Given the description of an element on the screen output the (x, y) to click on. 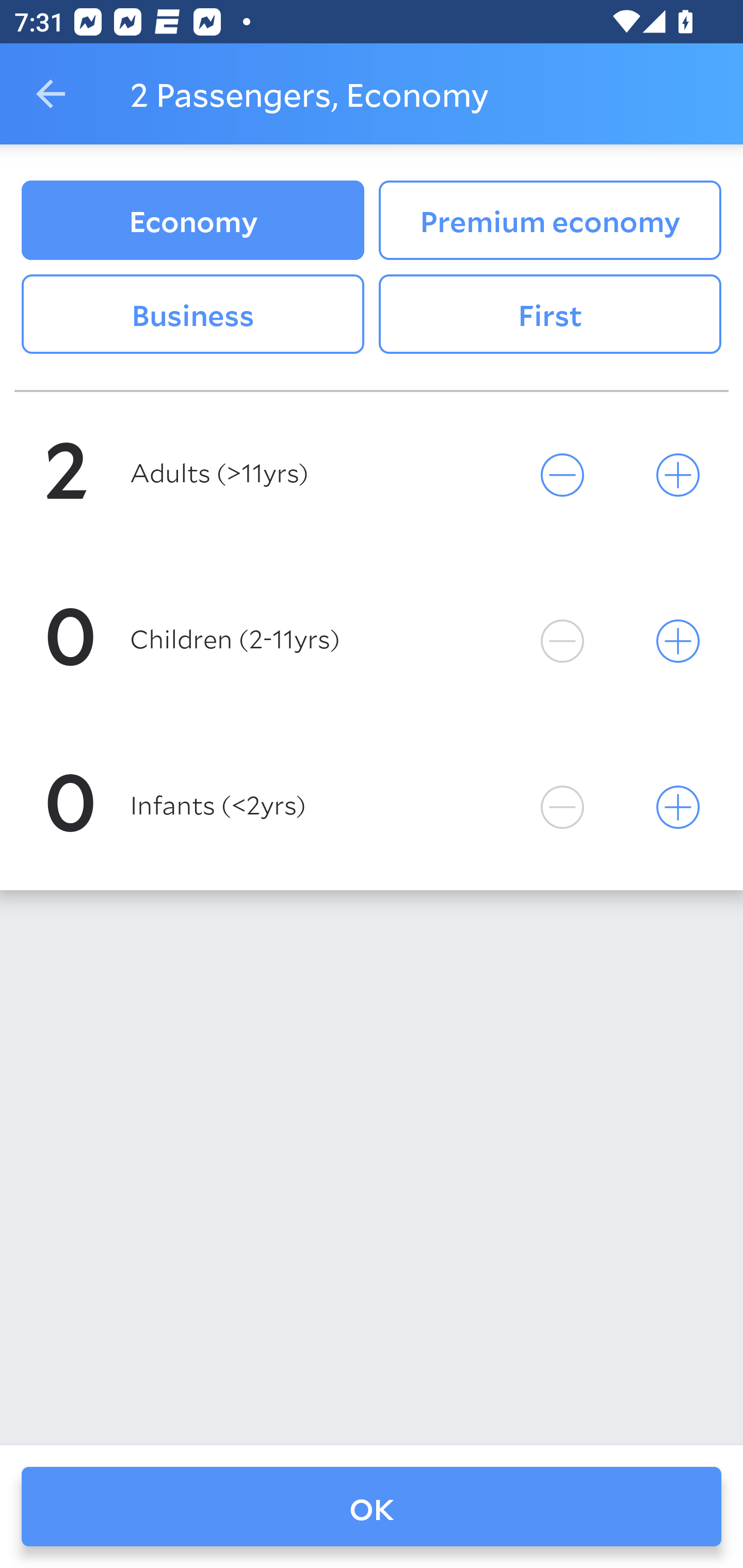
Navigate up (50, 93)
Economy (192, 220)
Premium economy (549, 220)
Business (192, 314)
First (549, 314)
OK (371, 1506)
